Given the description of an element on the screen output the (x, y) to click on. 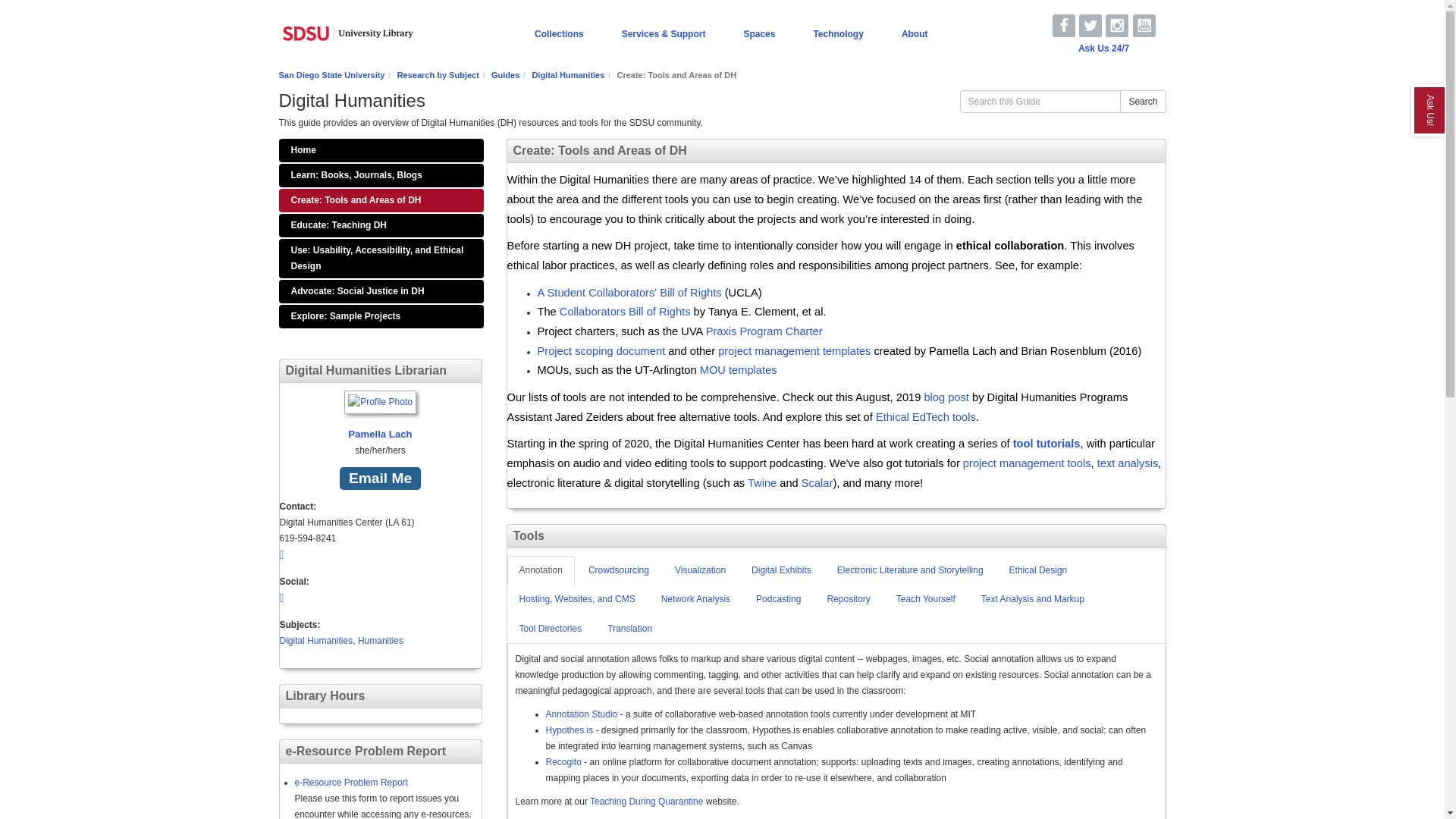
San Diego State University (332, 74)
Learn: Books, Journals, Blogs (381, 175)
Educate: Teaching DH (381, 225)
Collaborators Bill of Rights (624, 311)
Search (1142, 101)
Use: Usability, Accessibility, and Ethical Design (381, 258)
Technology (837, 33)
Email Me (379, 478)
Digital Humanities (567, 74)
Research by Subject (438, 74)
